Given the description of an element on the screen output the (x, y) to click on. 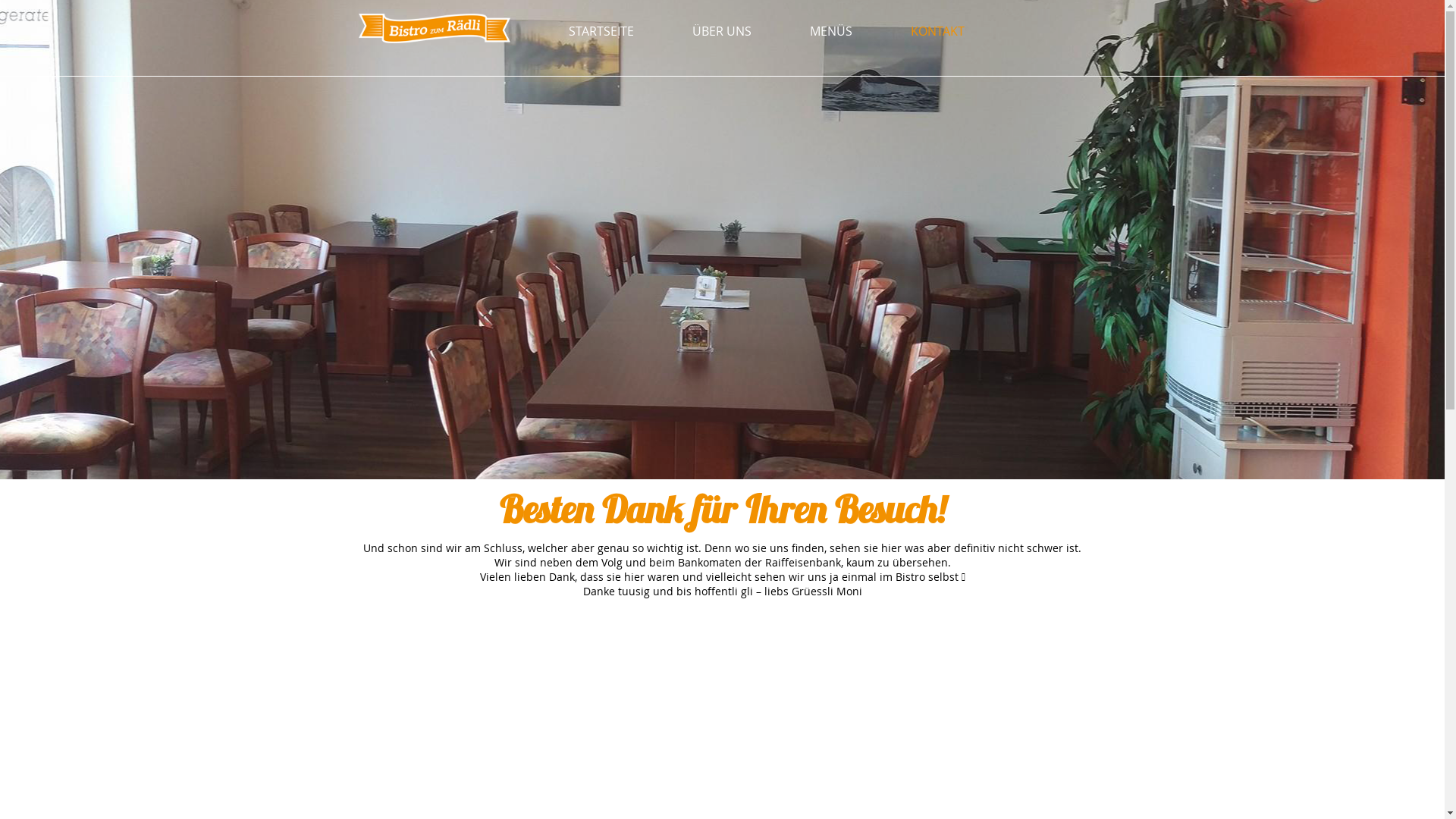
KONTAKT Element type: text (936, 30)
STARTSEITE Element type: text (600, 30)
